Given the description of an element on the screen output the (x, y) to click on. 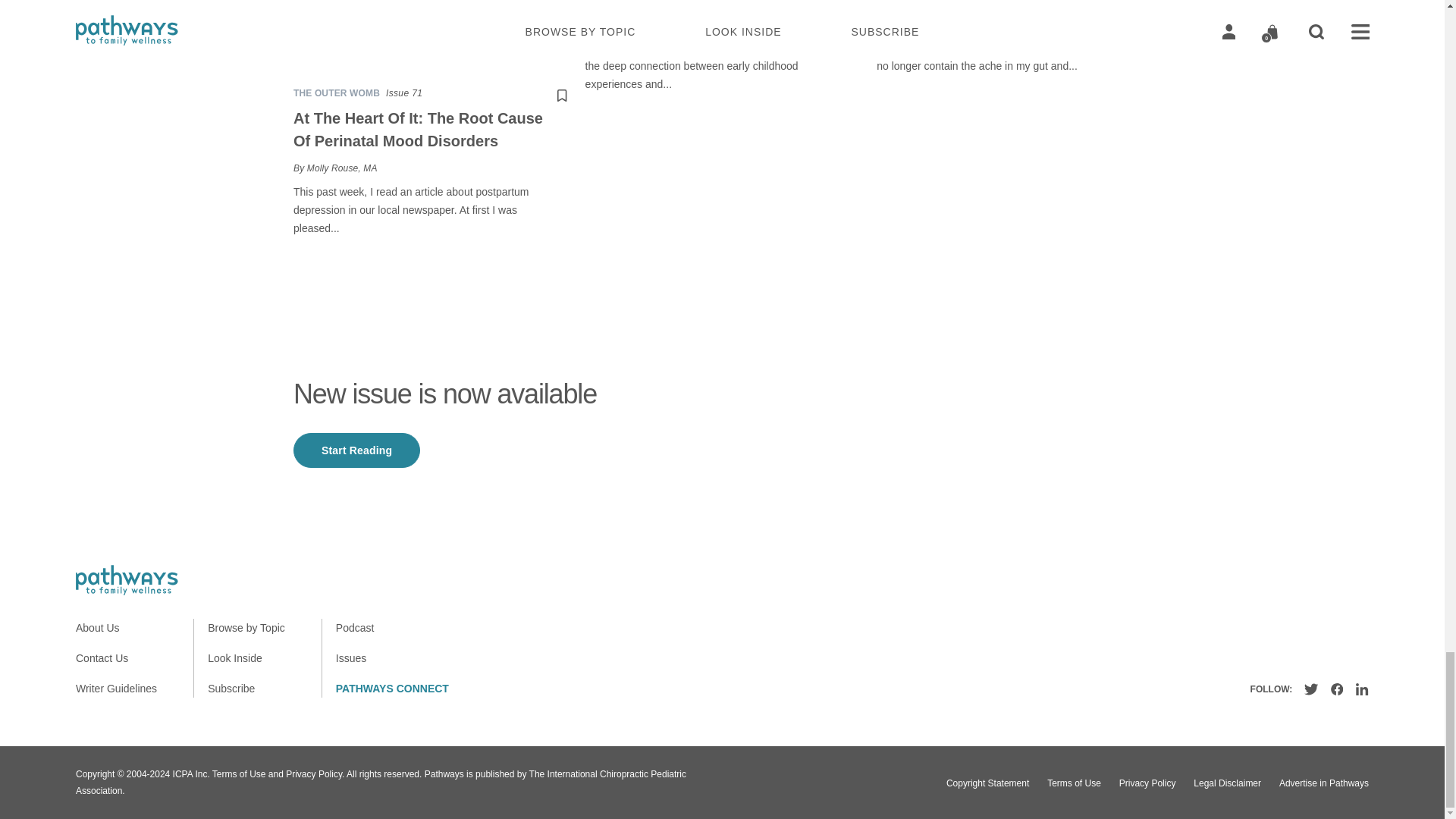
THE OUTER WOMB (337, 92)
Issue 71 (403, 92)
Molly Rouse, MA (342, 167)
